Given the description of an element on the screen output the (x, y) to click on. 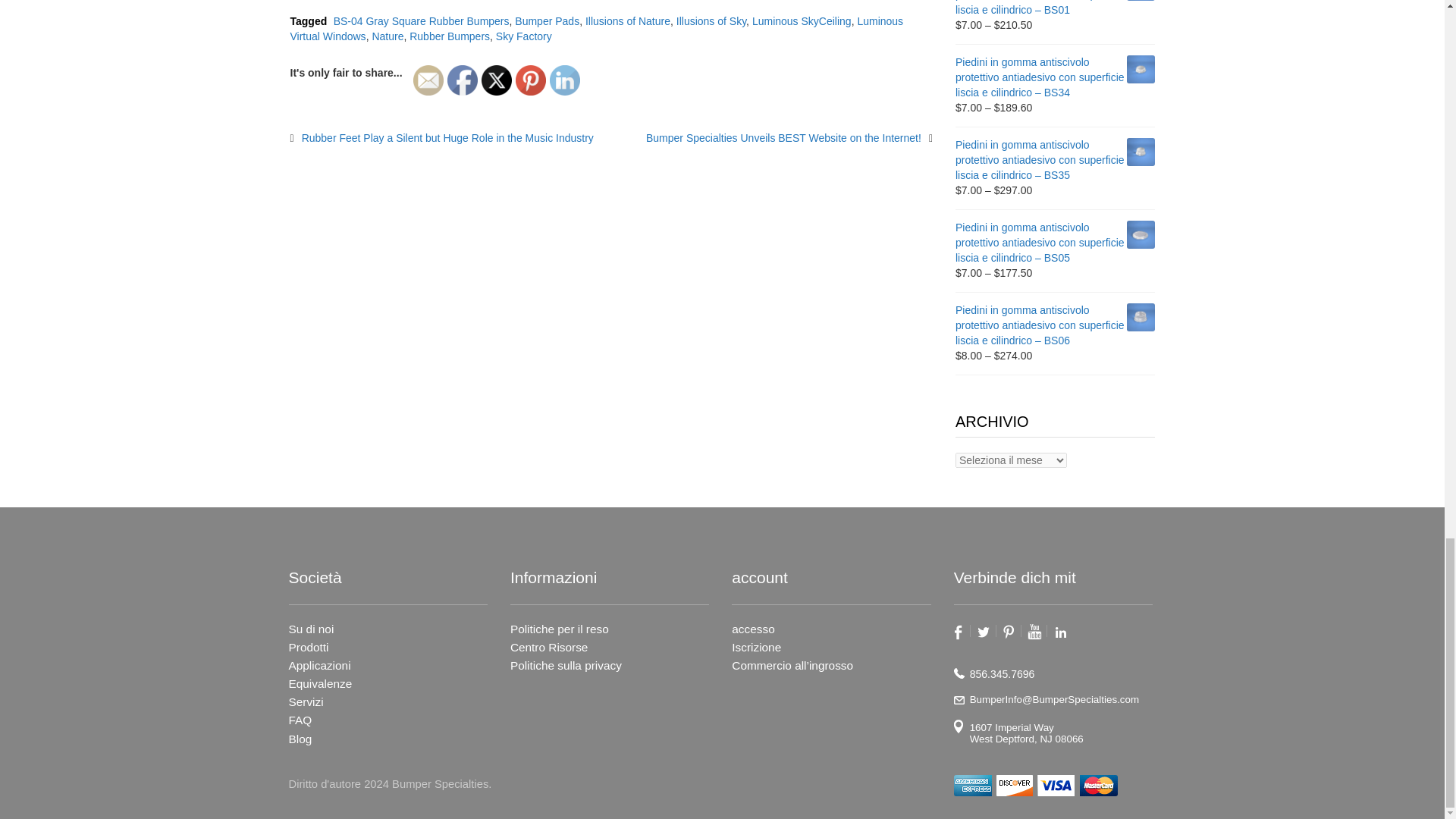
Illusions of Nature (627, 21)
Bumper Pads (547, 21)
Follow by Email (428, 80)
Facebook (461, 80)
Twitter (496, 80)
BS-04 Gray Square Rubber Bumpers (421, 21)
